Given the description of an element on the screen output the (x, y) to click on. 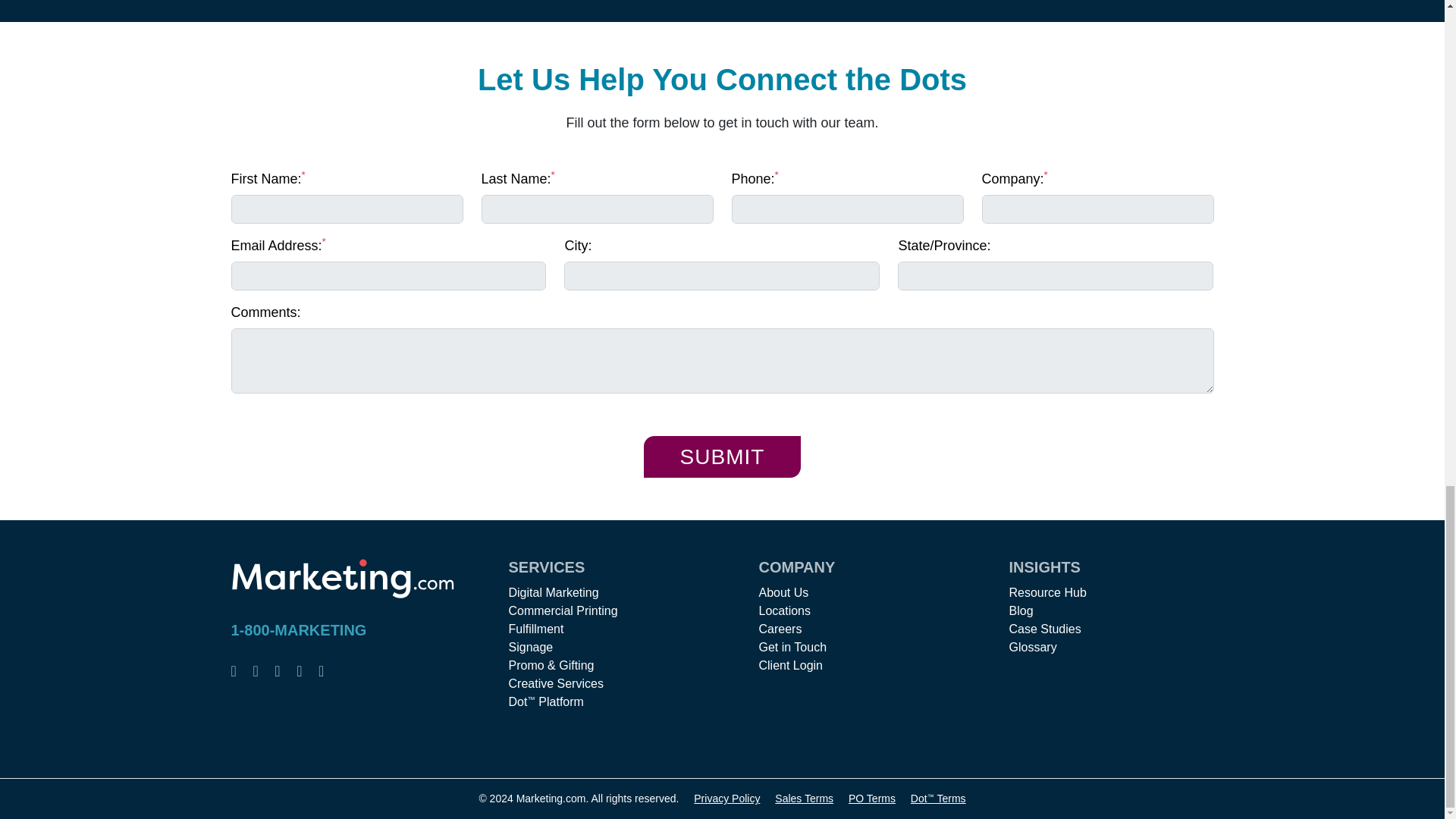
Submit (722, 456)
